Given the description of an element on the screen output the (x, y) to click on. 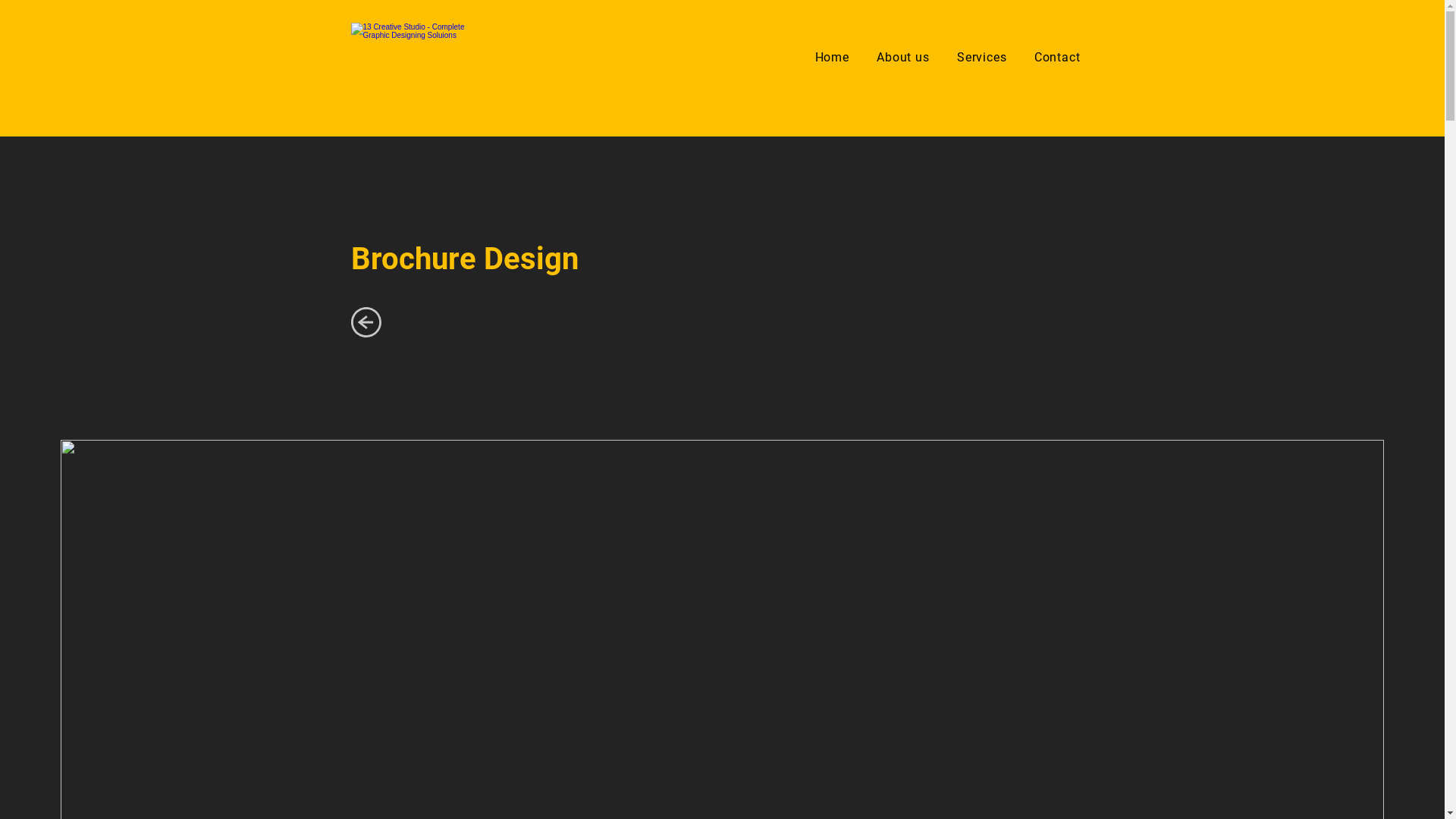
13Creative Studio Element type: hover (415, 56)
About us Element type: text (902, 57)
Services Element type: text (981, 57)
Contact Element type: text (1057, 57)
Home Element type: text (831, 57)
